Given the description of an element on the screen output the (x, y) to click on. 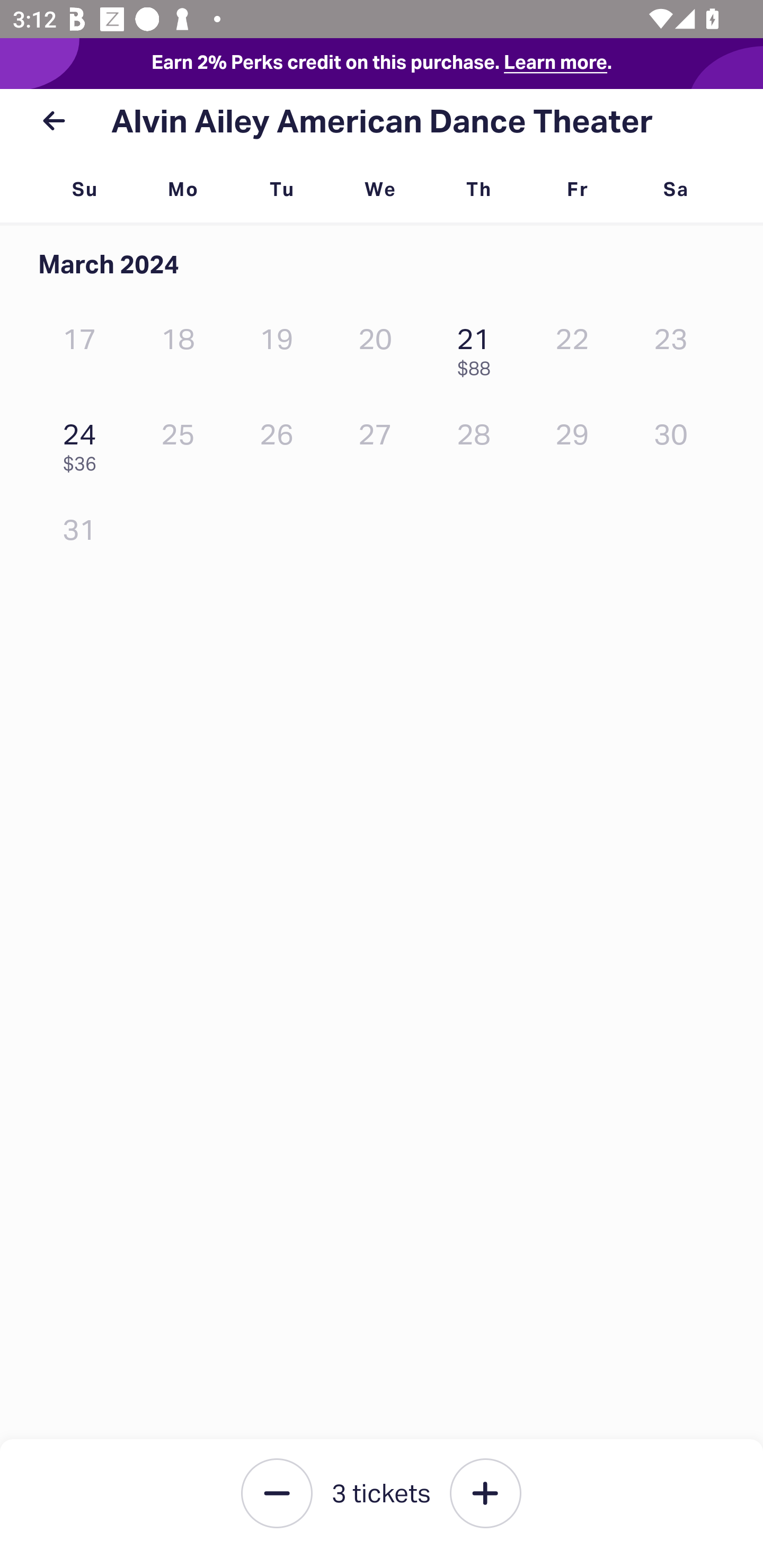
Earn 2% Perks credit on this purchase. Learn more. (381, 63)
back button (53, 120)
21 $88 (478, 347)
24 $36 (84, 442)
